Given the description of an element on the screen output the (x, y) to click on. 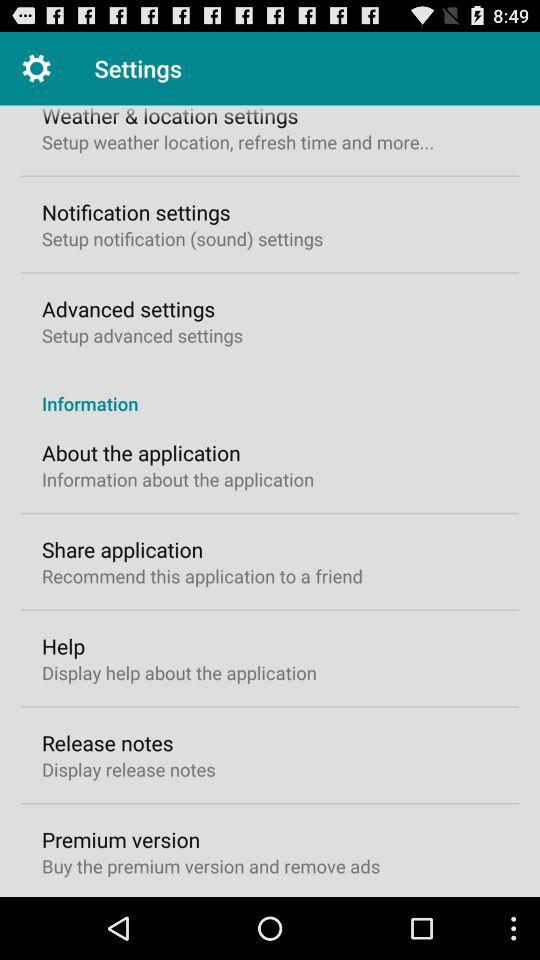
choose icon above advanced settings (182, 238)
